Given the description of an element on the screen output the (x, y) to click on. 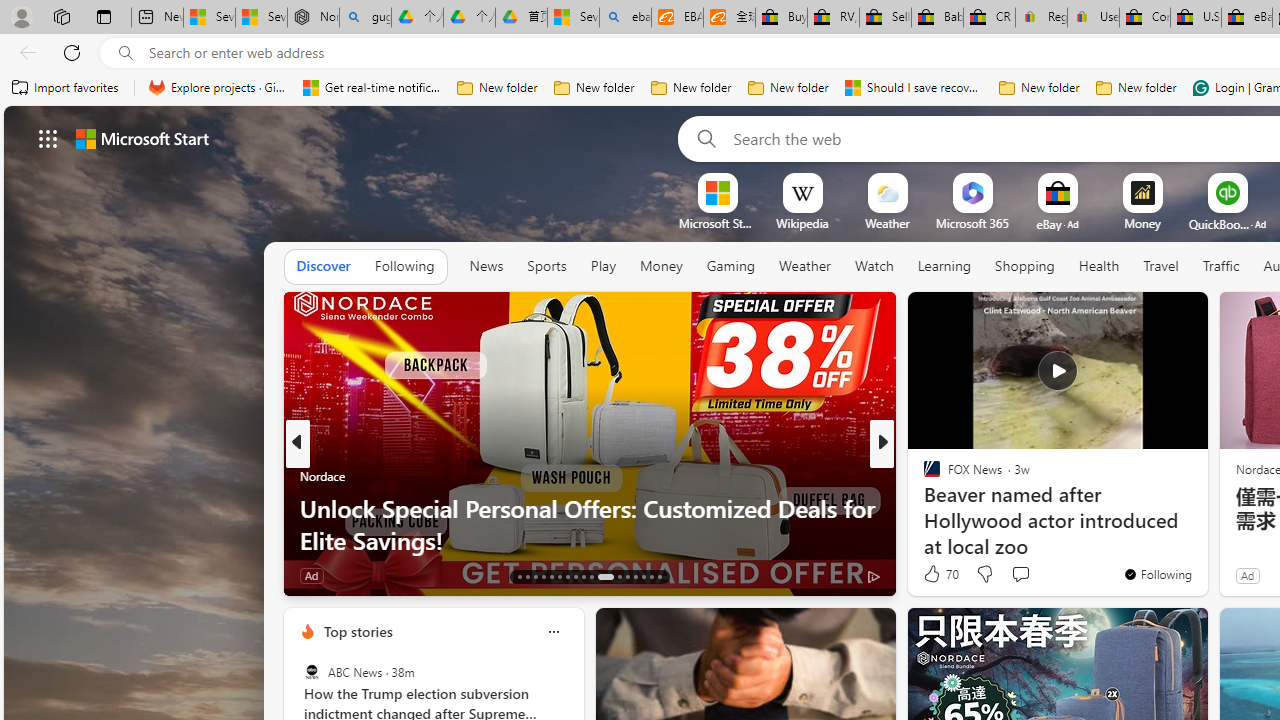
You're following FOX News (1157, 573)
Health (1098, 267)
Ad (1247, 575)
guge yunpan - Search (365, 17)
Register: Create a personal eBay account (1041, 17)
Following (404, 267)
